Given the description of an element on the screen output the (x, y) to click on. 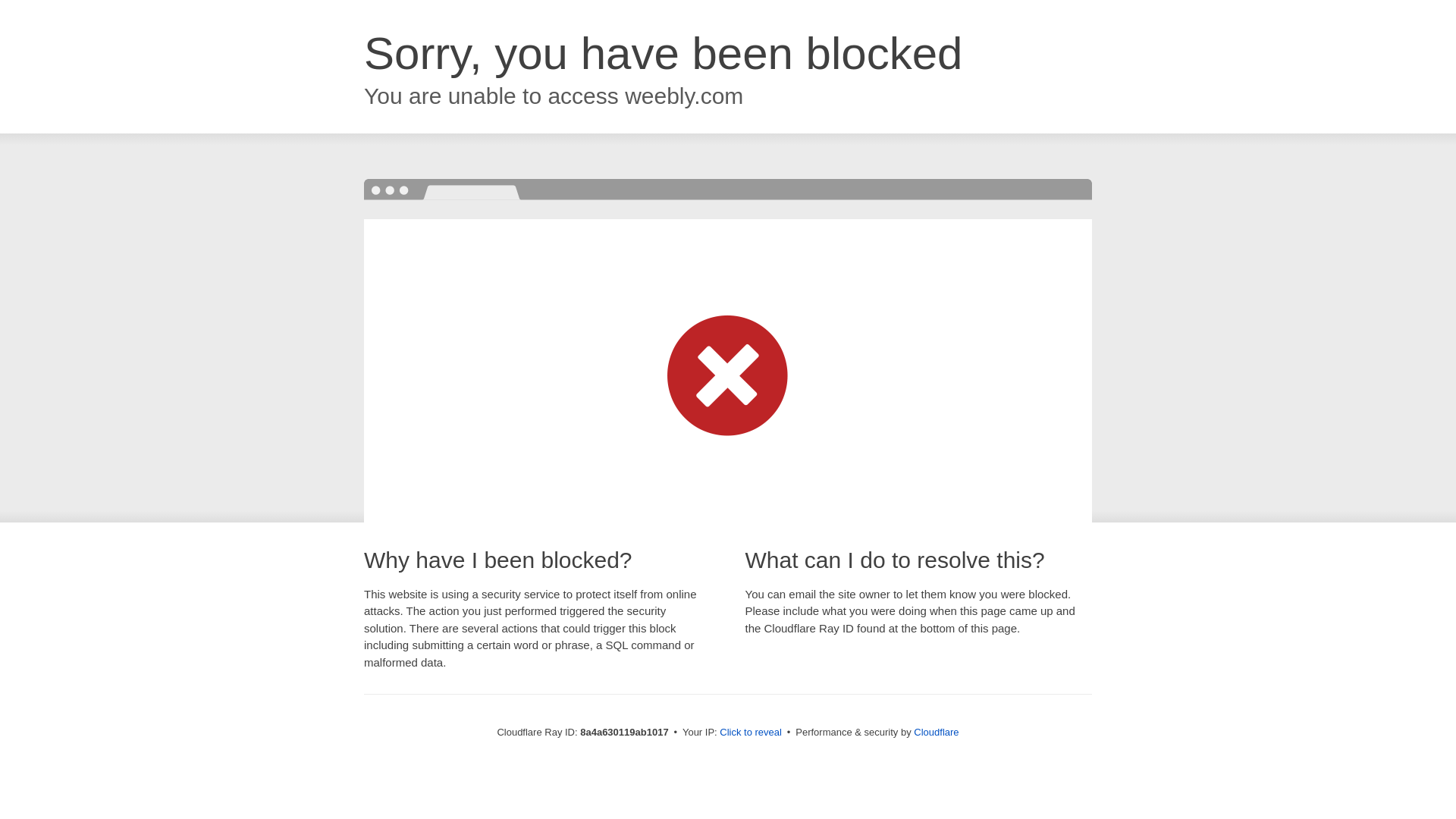
Click to reveal (750, 732)
Cloudflare (936, 731)
